Given the description of an element on the screen output the (x, y) to click on. 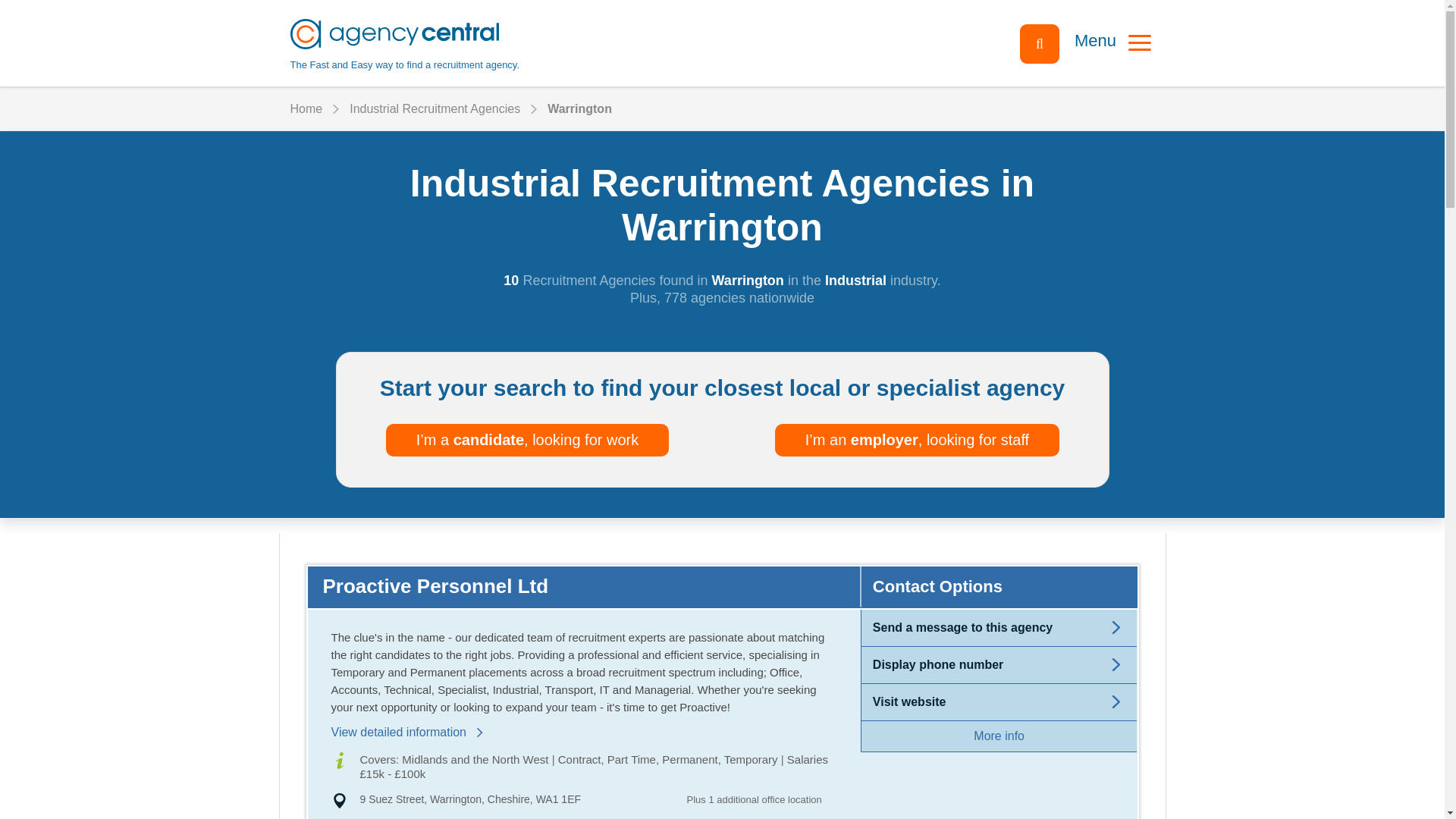
Industrial Recruitment Agencies (434, 108)
Display phone number (937, 664)
Visit website (469, 799)
Home (909, 701)
Send a message to this agency (305, 108)
Home (962, 626)
